Given the description of an element on the screen output the (x, y) to click on. 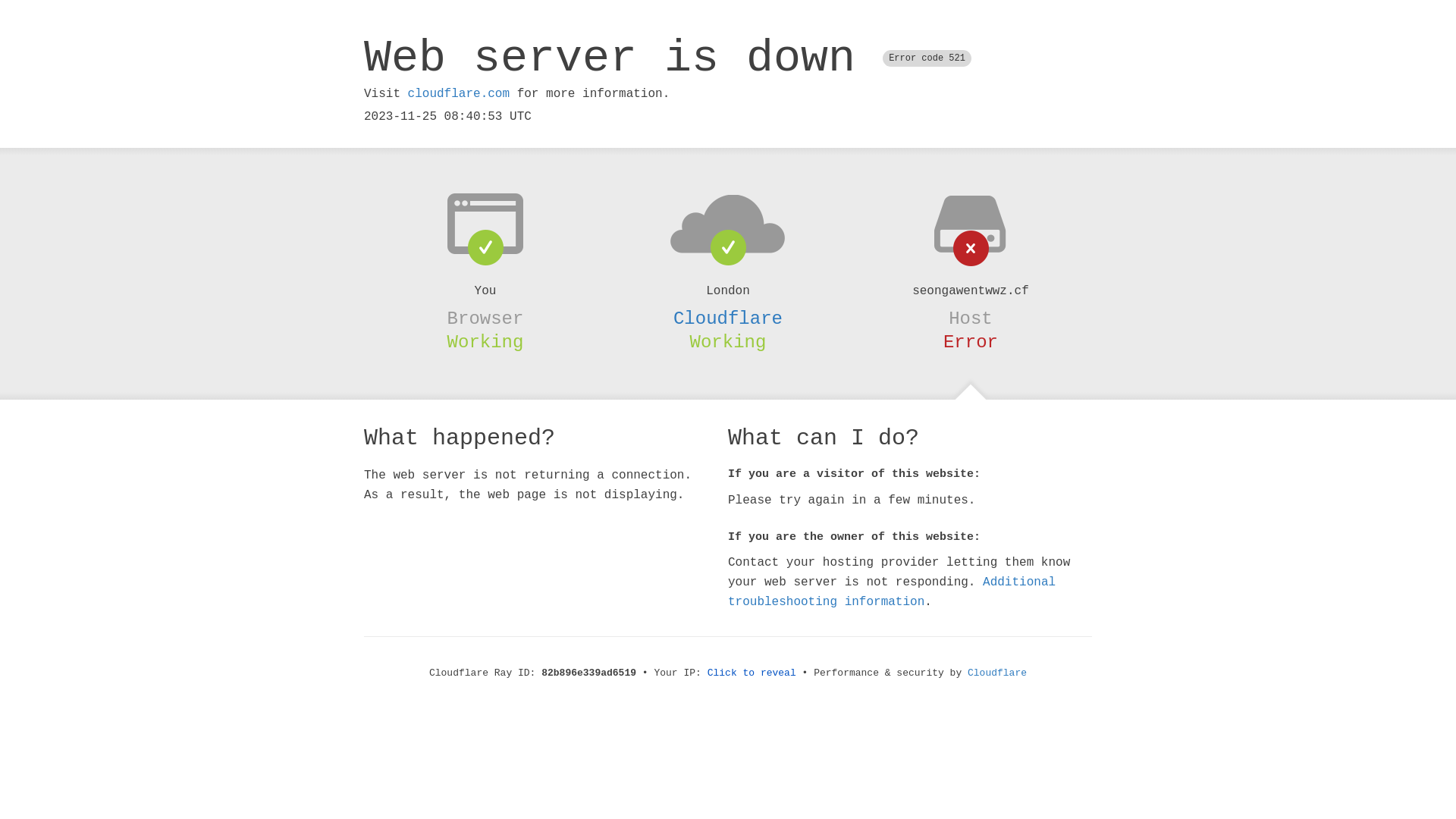
Click to reveal Element type: text (751, 672)
Additional troubleshooting information Element type: text (891, 591)
Cloudflare Element type: text (996, 672)
Cloudflare Element type: text (727, 318)
cloudflare.com Element type: text (458, 93)
